Given the description of an element on the screen output the (x, y) to click on. 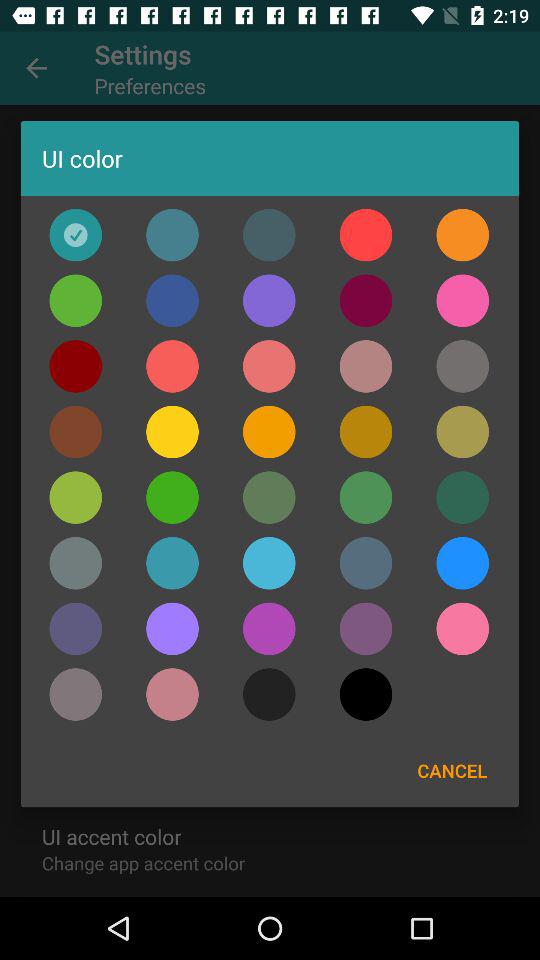
orange color selection (462, 234)
